Given the description of an element on the screen output the (x, y) to click on. 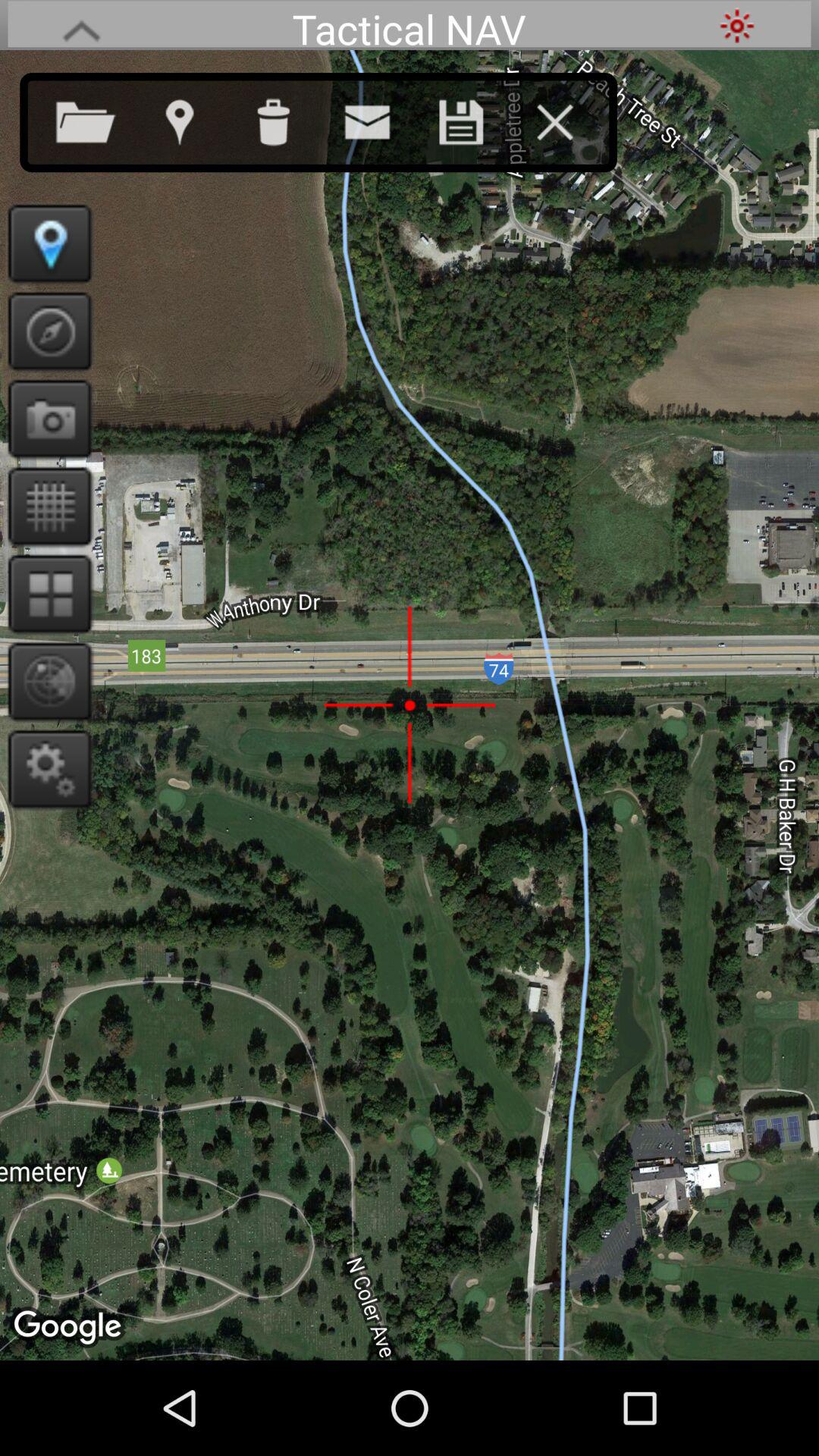
select the item to the left of the tactical nav app (81, 25)
